Given the description of an element on the screen output the (x, y) to click on. 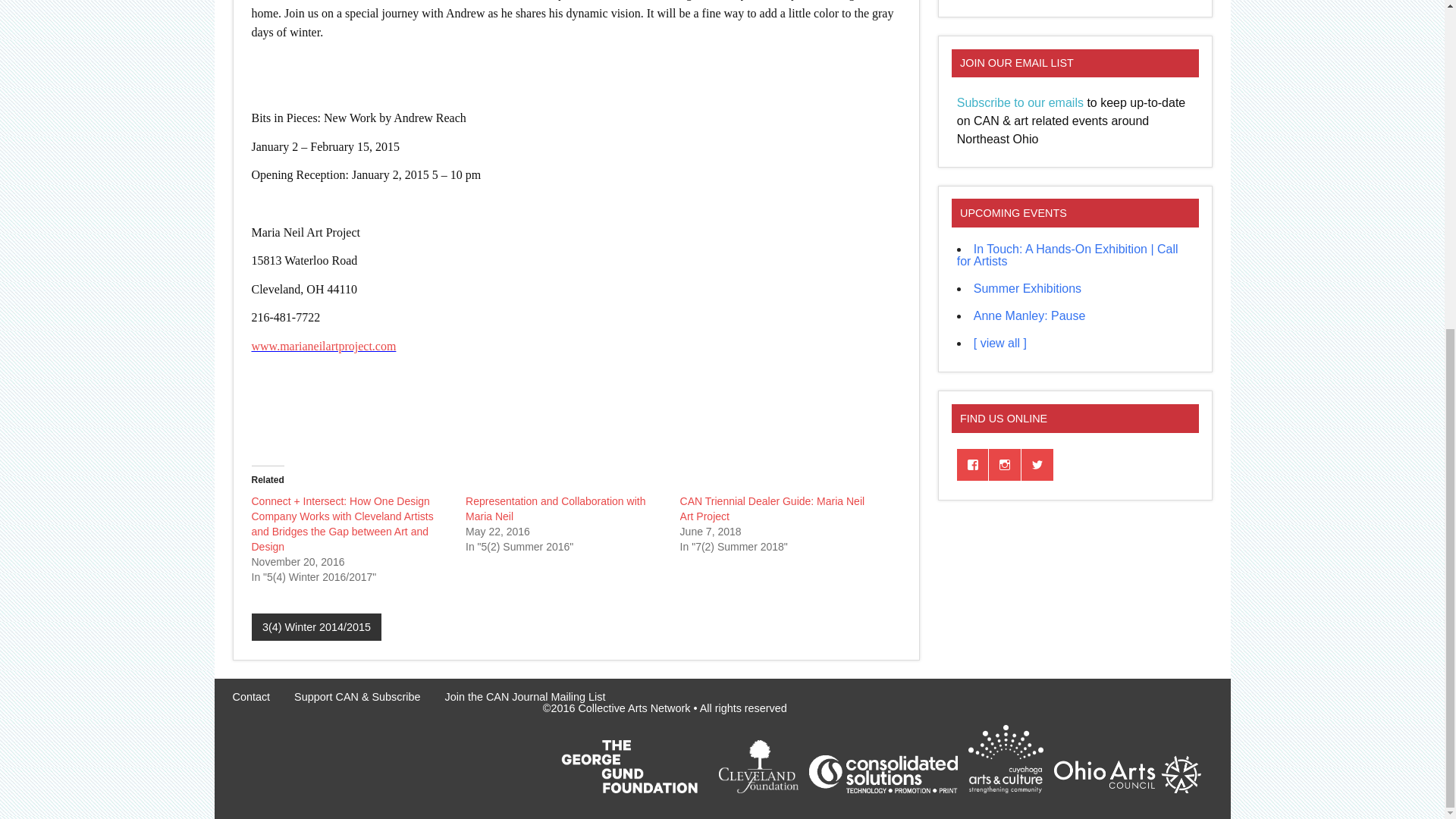
CAN Triennial Dealer Guide: Maria Neil Art Project (771, 508)
Subscribe to our emails (1019, 102)
CAN Triennial Dealer Guide: Maria Neil Art Project (771, 508)
Representation and Collaboration with Maria Neil (555, 508)
www.marianeilartproject.com (323, 345)
Summer Exhibitions (1027, 287)
Representation and Collaboration with Maria Neil (555, 508)
Anne Manley: Pause (1030, 315)
